Given the description of an element on the screen output the (x, y) to click on. 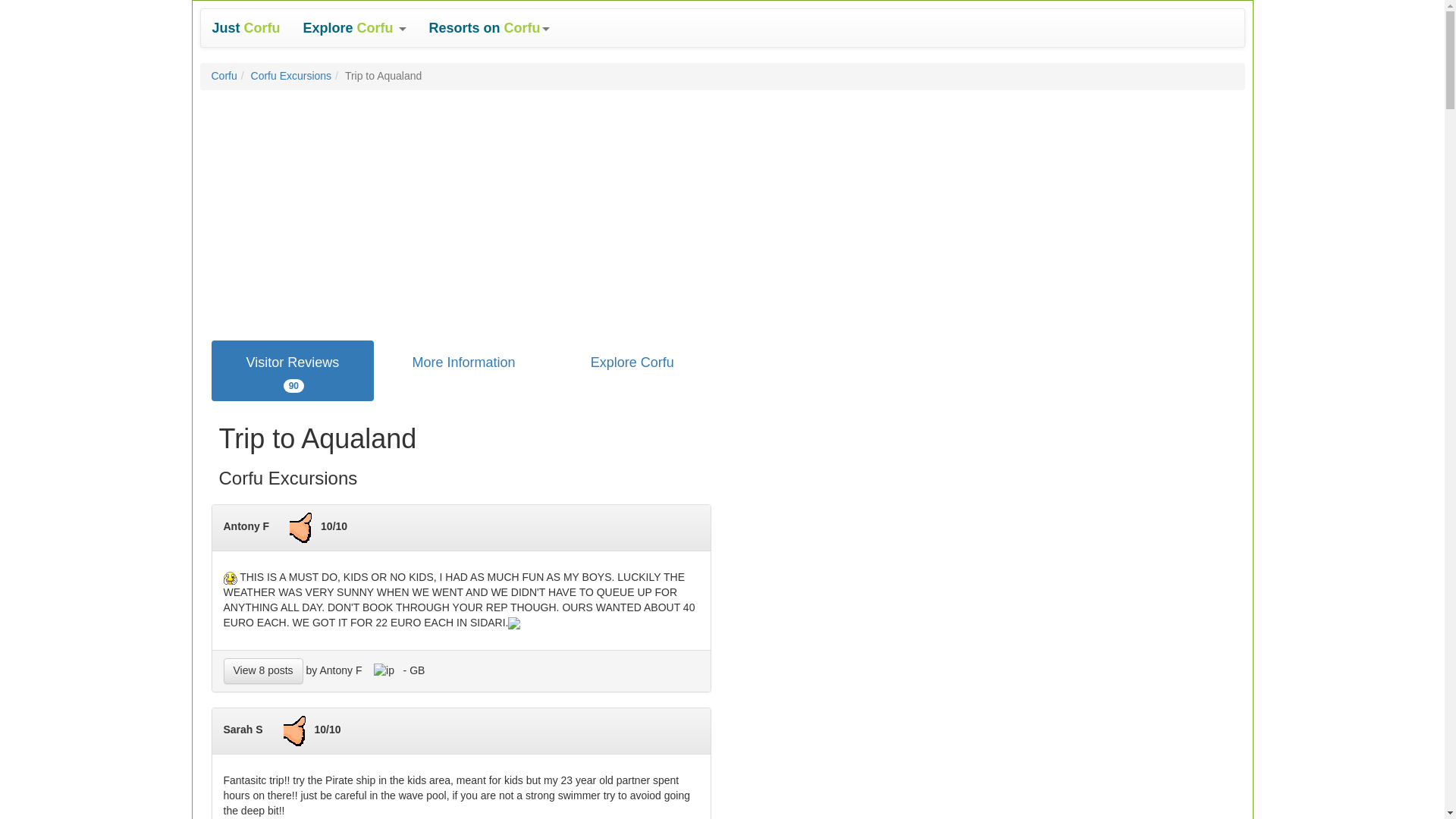
Explore Corfu (632, 362)
Corfu (223, 75)
Resorts on Corfu (488, 27)
Just Corfu (245, 27)
Corfu Excursions (290, 75)
More Information (463, 362)
Explore Corfu (354, 27)
View 8 posts (292, 370)
